Given the description of an element on the screen output the (x, y) to click on. 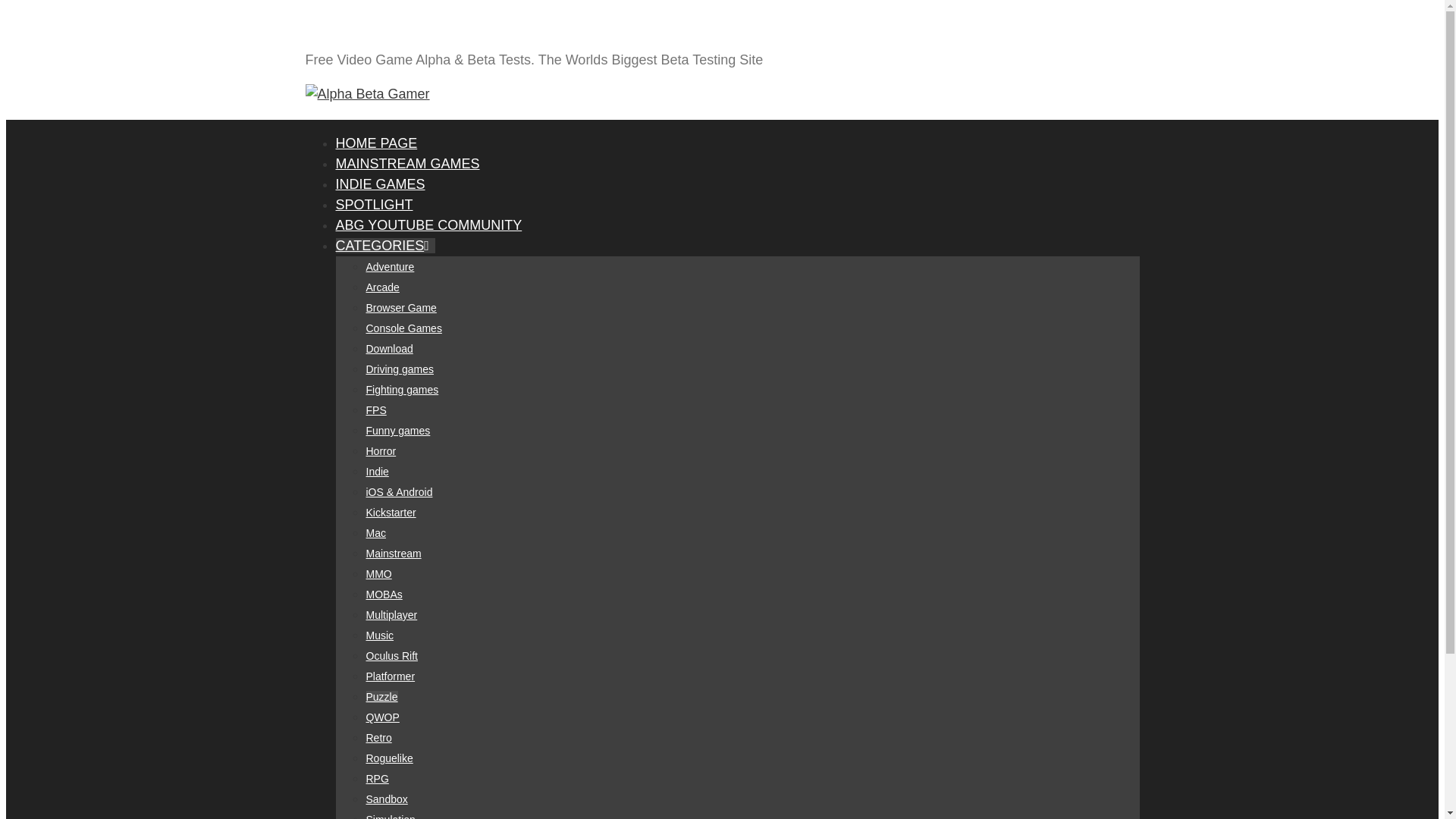
Kickstarter (389, 512)
Simulation (389, 816)
SPOTLIGHT (373, 204)
Oculus Rift (390, 655)
Browser Game (400, 307)
Console Games (403, 328)
Retro (378, 737)
INDIE GAMES (379, 183)
Mac (375, 532)
Multiplayer (390, 614)
Driving games (398, 369)
Indie (376, 471)
FPS (375, 410)
QWOP (381, 717)
Platformer (389, 676)
